Given the description of an element on the screen output the (x, y) to click on. 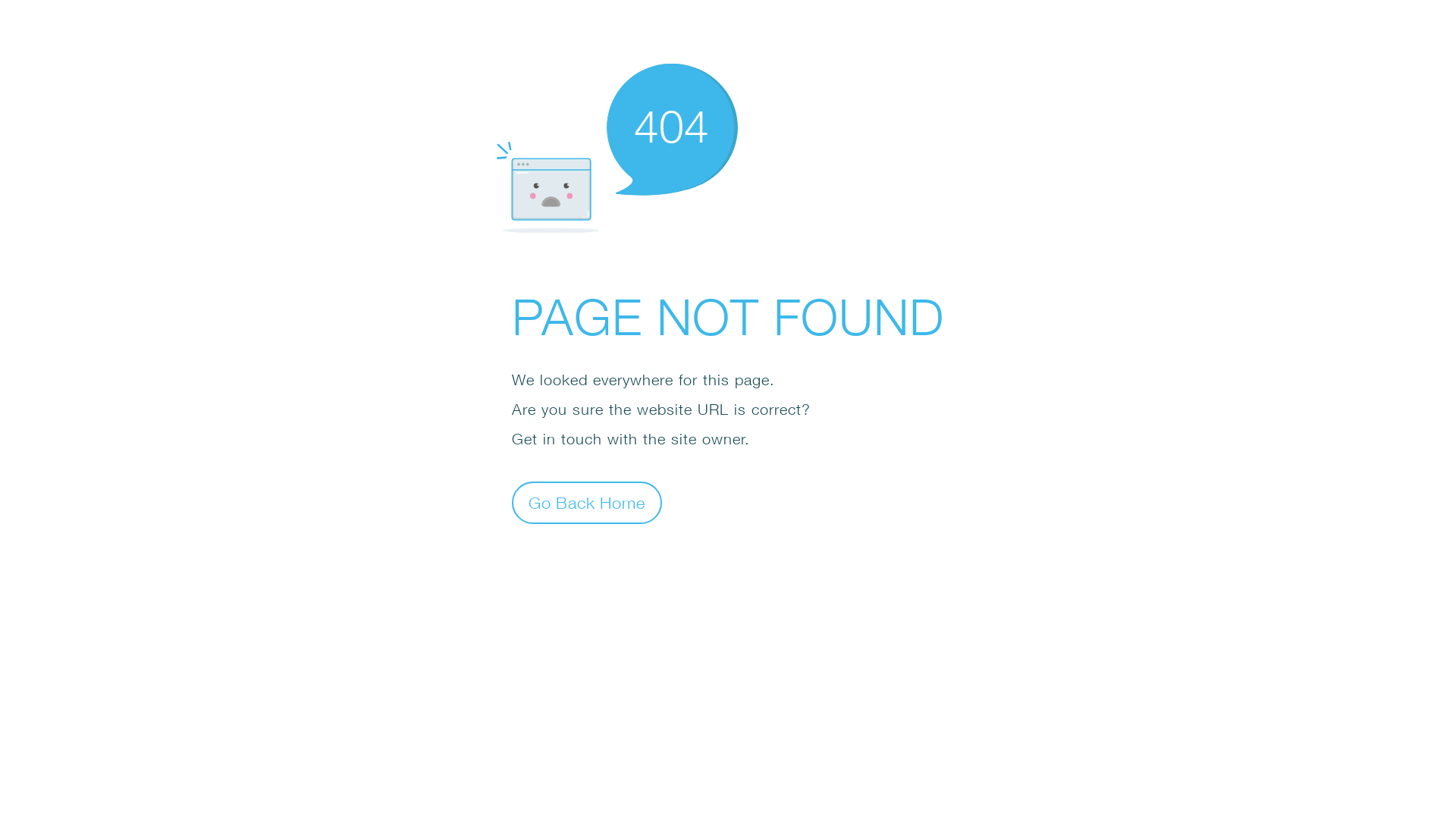
Go Back Home Element type: text (586, 502)
